Given the description of an element on the screen output the (x, y) to click on. 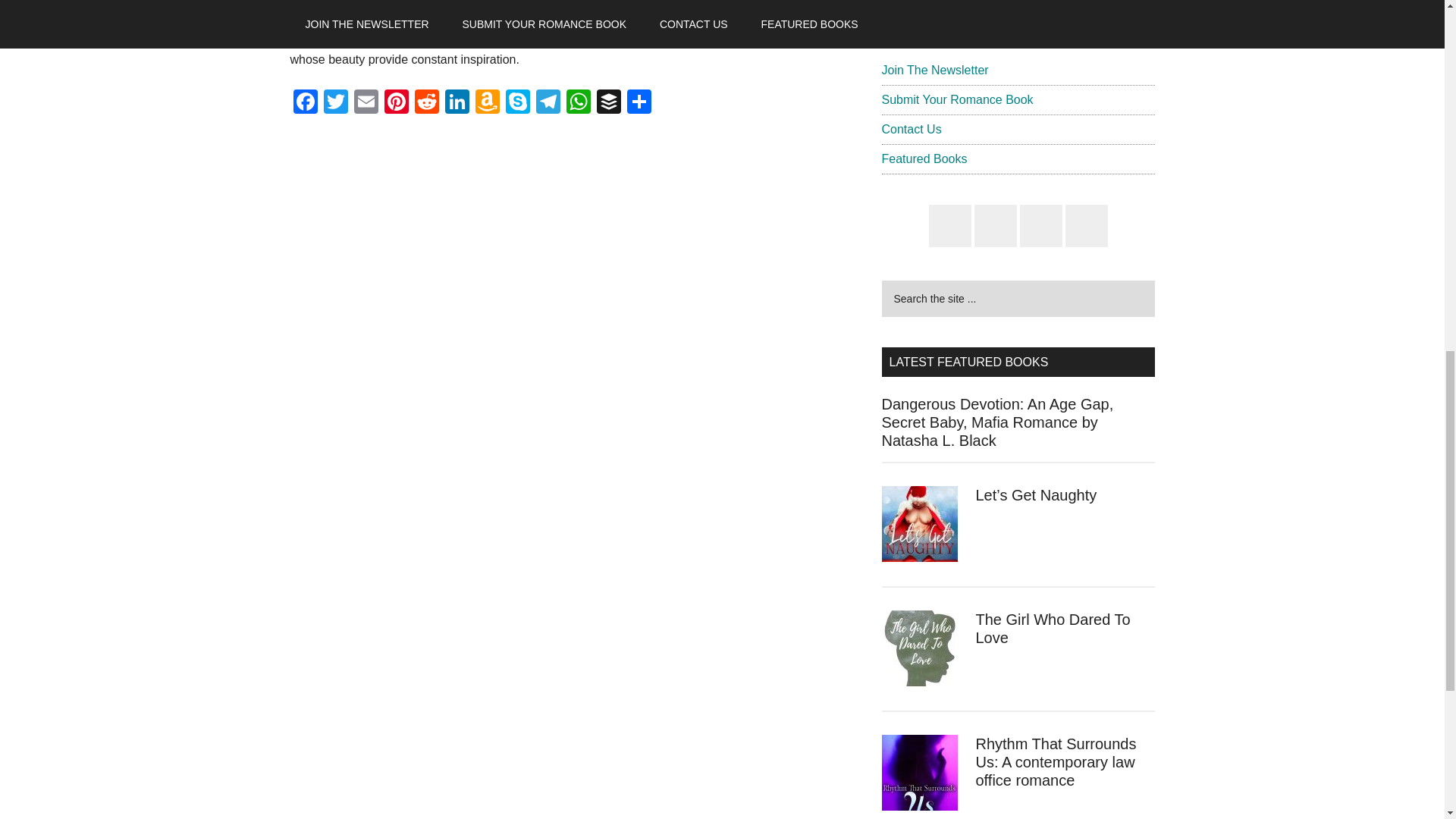
Reddit (425, 103)
Telegram (547, 103)
Skype (517, 103)
Amazon Wish List (486, 103)
Telegram (547, 103)
Twitter (335, 103)
LinkedIn (456, 103)
WhatsApp (577, 103)
Facebook (304, 103)
